Given the description of an element on the screen output the (x, y) to click on. 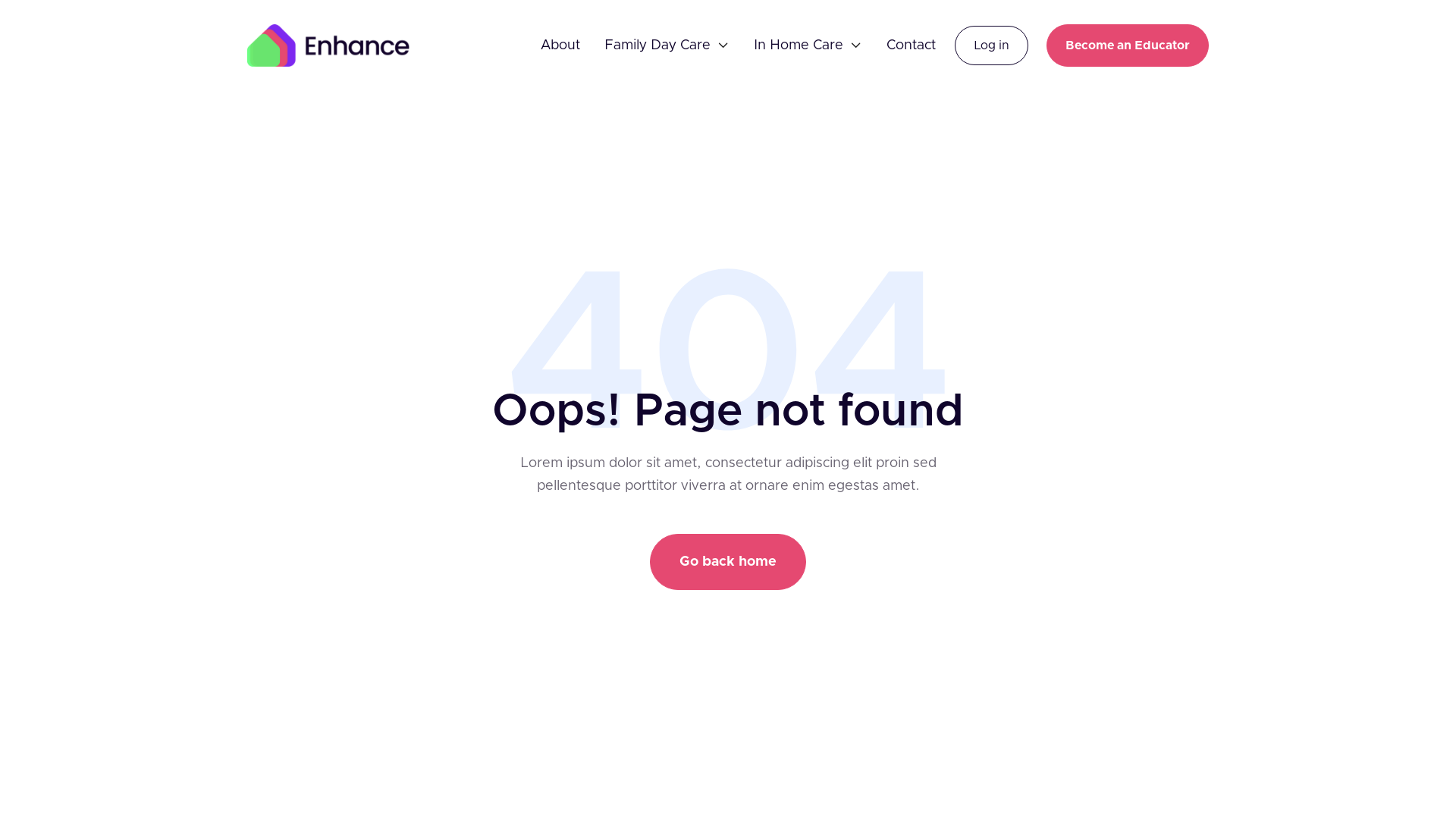
About Element type: text (560, 45)
In Home Care Element type: text (798, 45)
Go back home Element type: text (727, 561)
Become an Educator Element type: text (1127, 45)
Contact Element type: text (910, 45)
Log in Element type: text (991, 45)
Family Day Care Element type: text (657, 45)
